Given the description of an element on the screen output the (x, y) to click on. 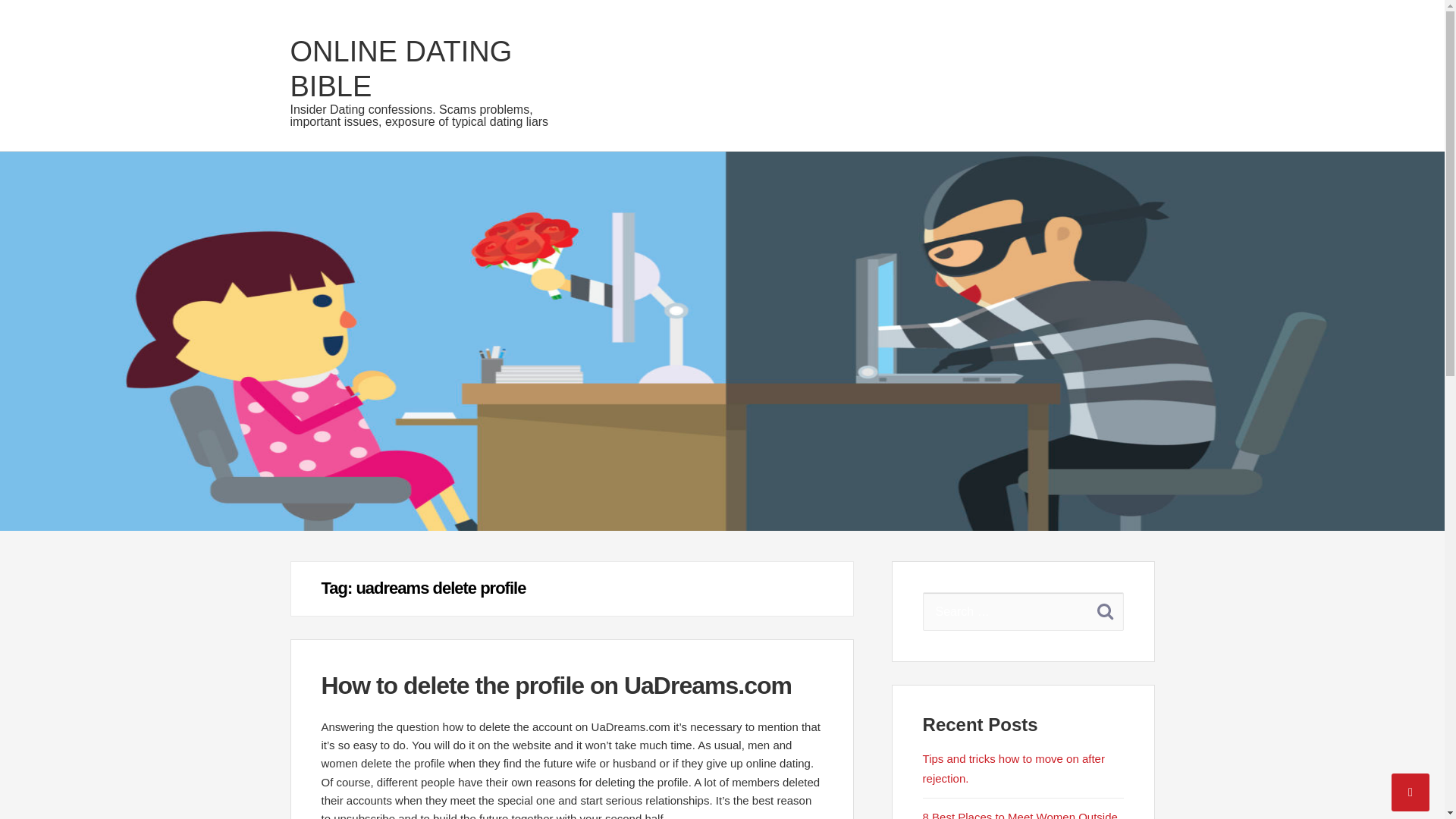
Tips and tricks how to move on after rejection. (1014, 768)
8 Best Places to Meet Women Outside of Bars and Clubs (1020, 814)
ONLINE DATING BIBLE (400, 69)
Search (1105, 610)
How to delete the profile on UaDreams.com (556, 685)
Search (1105, 610)
Search (1105, 610)
